Given the description of an element on the screen output the (x, y) to click on. 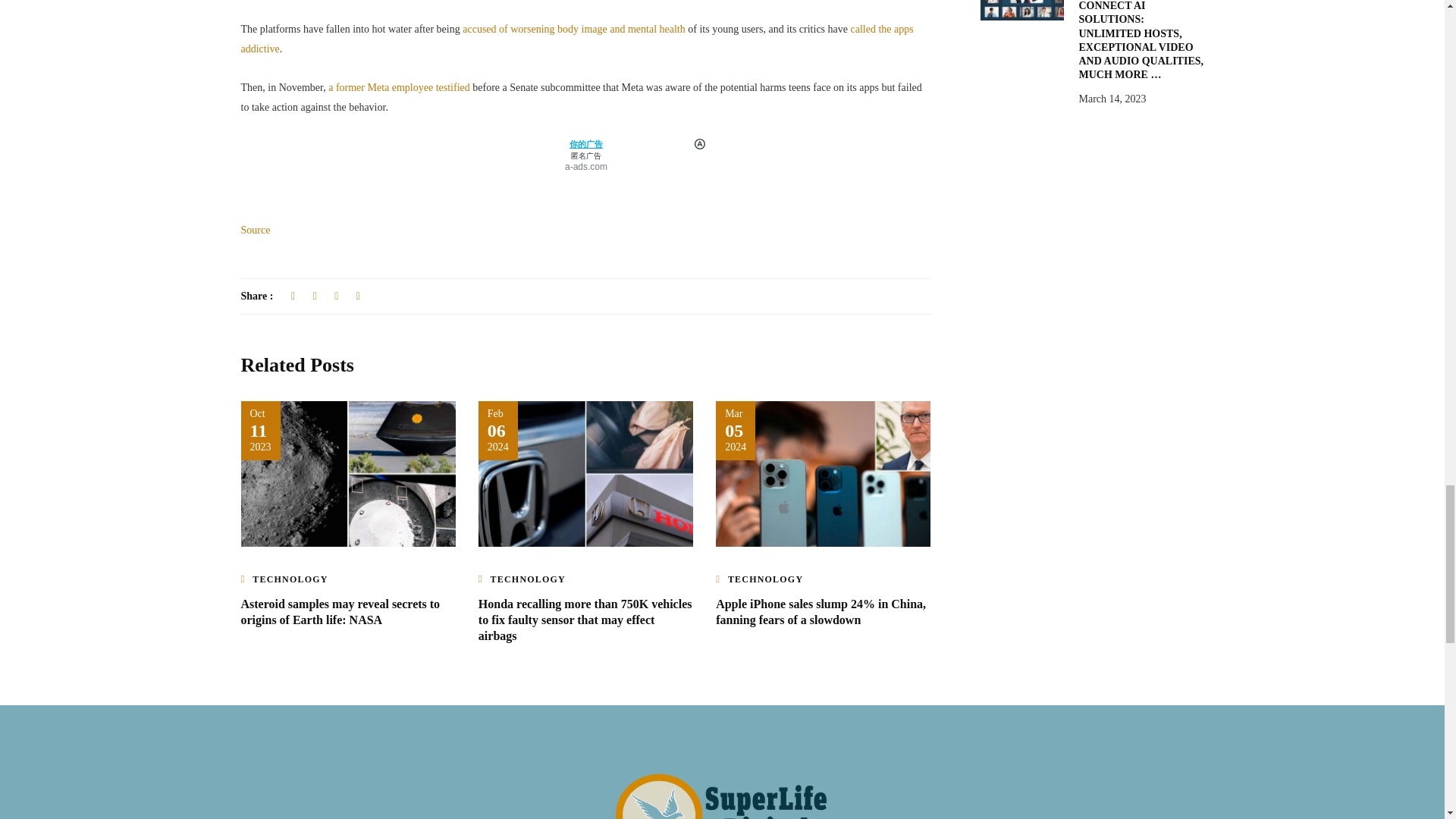
a former Meta employee testified (400, 87)
accused of worsening body image and mental health (575, 29)
called the apps addictive (577, 38)
